Given the description of an element on the screen output the (x, y) to click on. 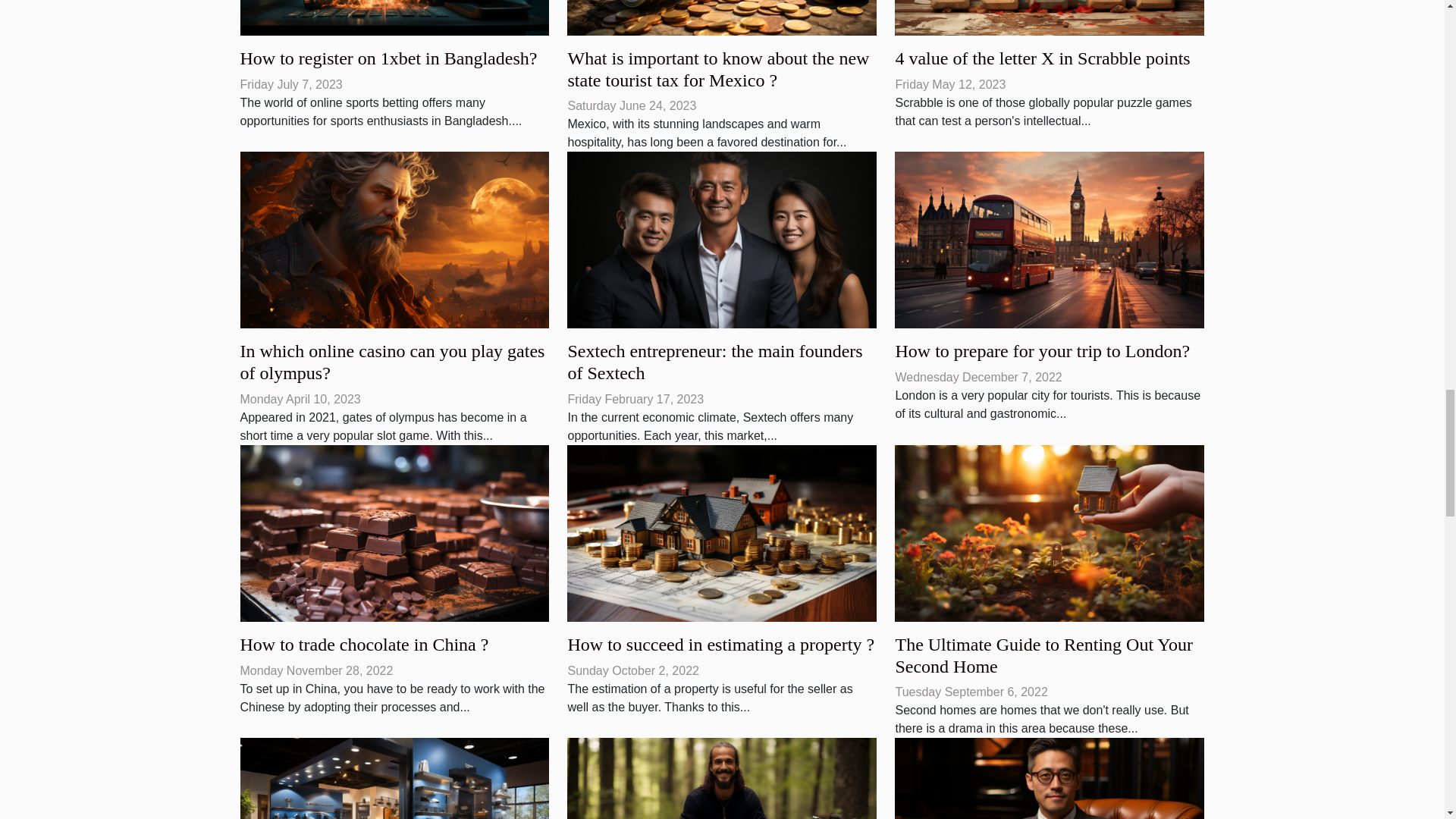
Sextech entrepreneur: the main founders of Sextech (714, 362)
How to register on 1xbet in Bangladesh? (388, 57)
In which online casino can you play gates of olympus? (394, 238)
In which online casino can you play gates of olympus? (392, 362)
4 value of the letter X in Scrabble points (1042, 57)
In which online casino can you play gates of olympus? (392, 362)
4 value of the letter X in Scrabble points (1042, 57)
How to prepare for your trip to London? (1042, 351)
How to register on 1xbet in Bangladesh? (388, 57)
Sextech entrepreneur: the main founders of Sextech (721, 238)
